Given the description of an element on the screen output the (x, y) to click on. 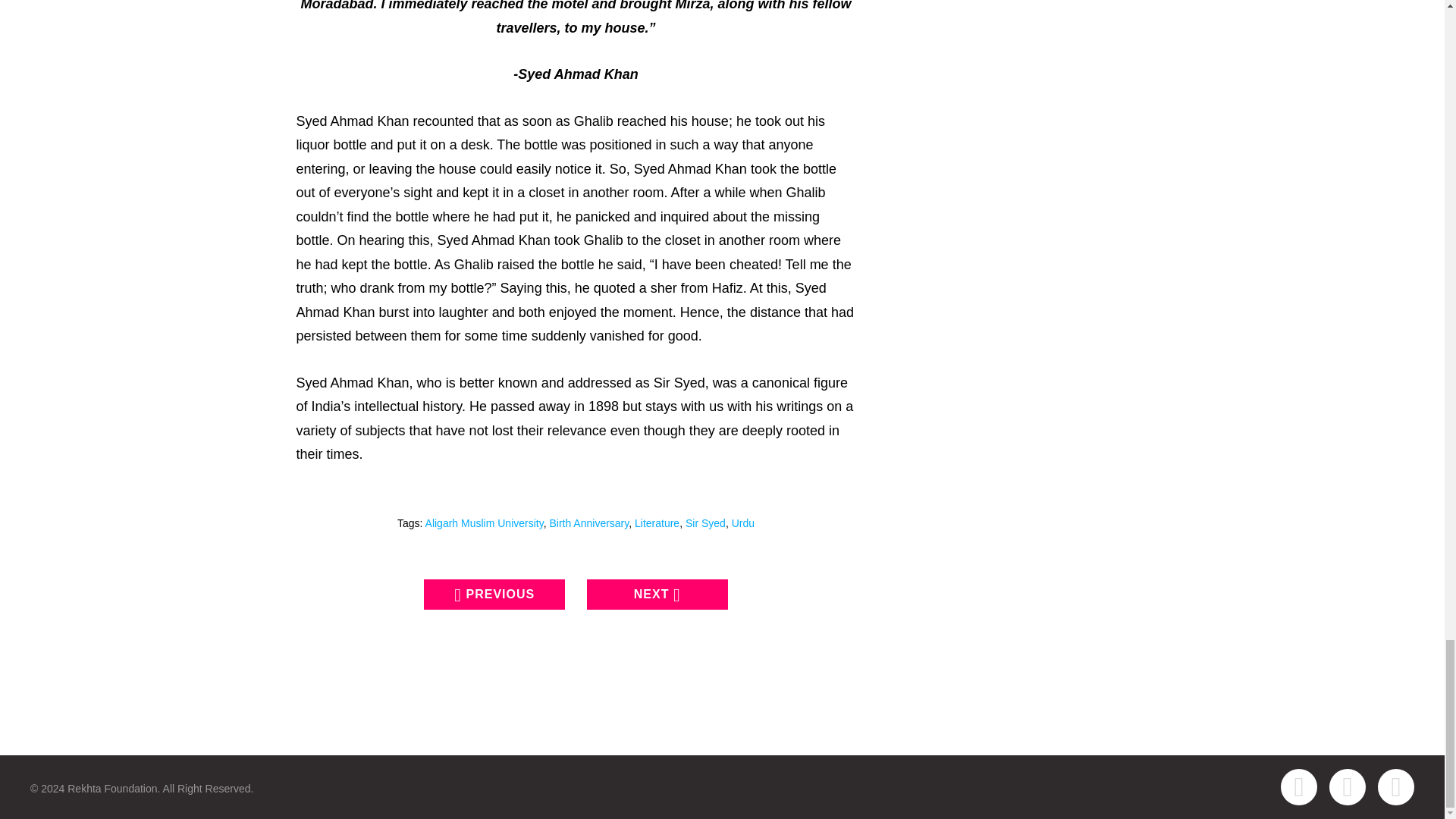
Literature (656, 522)
Aligarh Muslim University (484, 522)
Urdu (743, 522)
Birth Anniversary (588, 522)
NEXT (657, 594)
PREVIOUS (493, 594)
Sir Syed (705, 522)
